Given the description of an element on the screen output the (x, y) to click on. 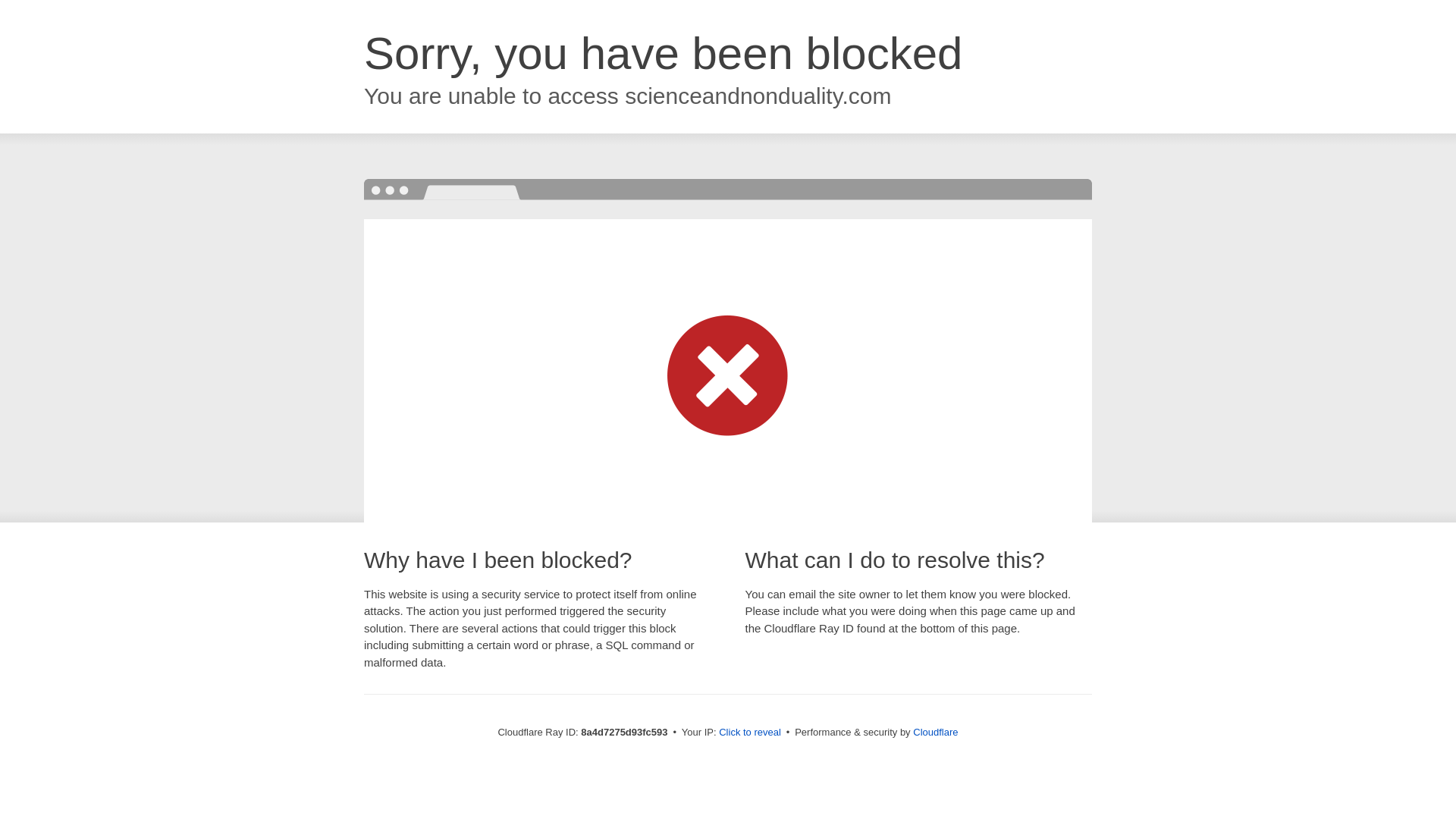
Cloudflare (935, 731)
Click to reveal (749, 732)
